Given the description of an element on the screen output the (x, y) to click on. 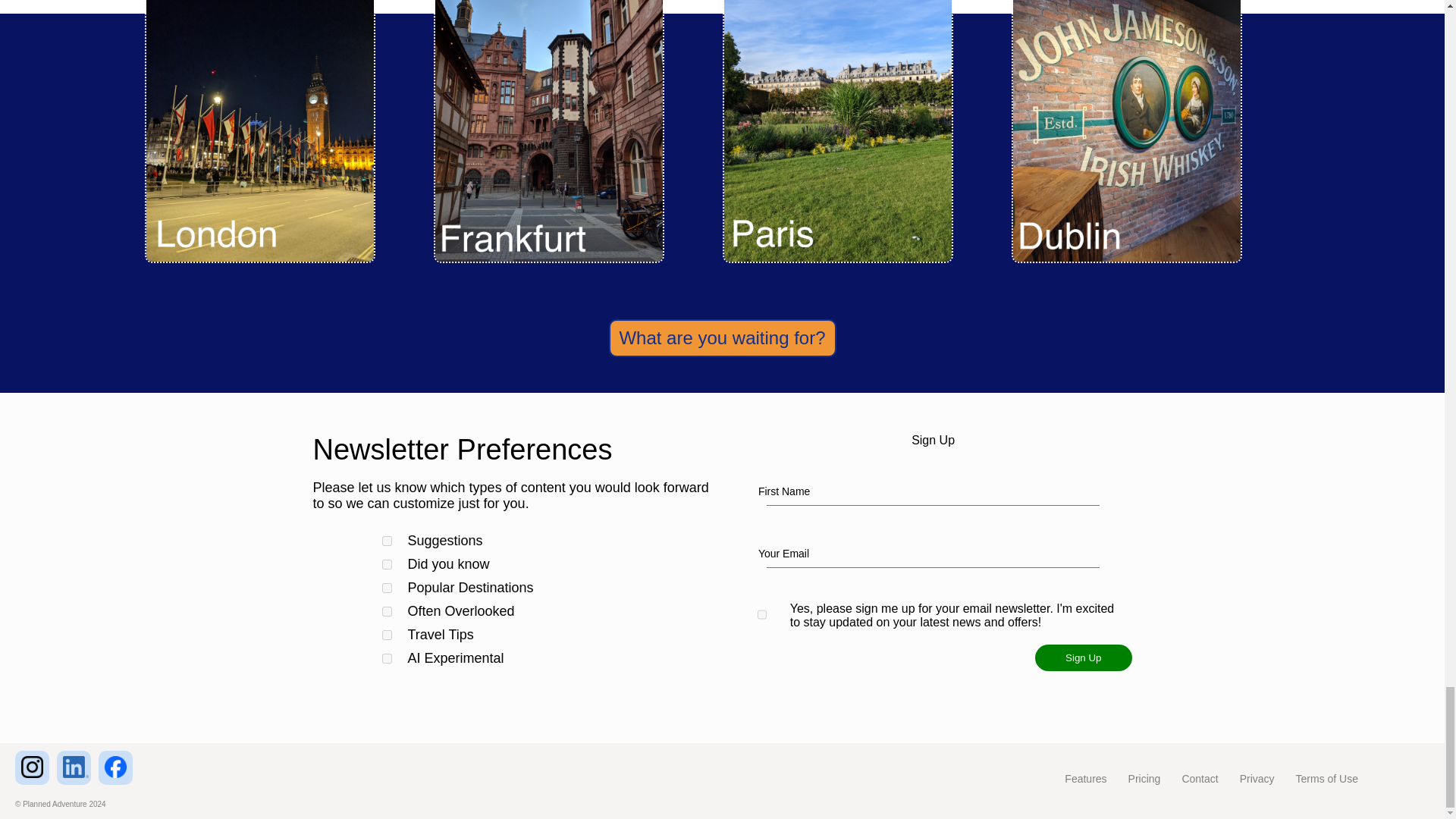
on (762, 614)
What are you waiting for? (721, 338)
Sign Up (1083, 657)
Pricing (1144, 778)
Terms of Use (1326, 778)
Contact (1198, 778)
Privacy (1257, 778)
Features (1085, 778)
